Given the description of an element on the screen output the (x, y) to click on. 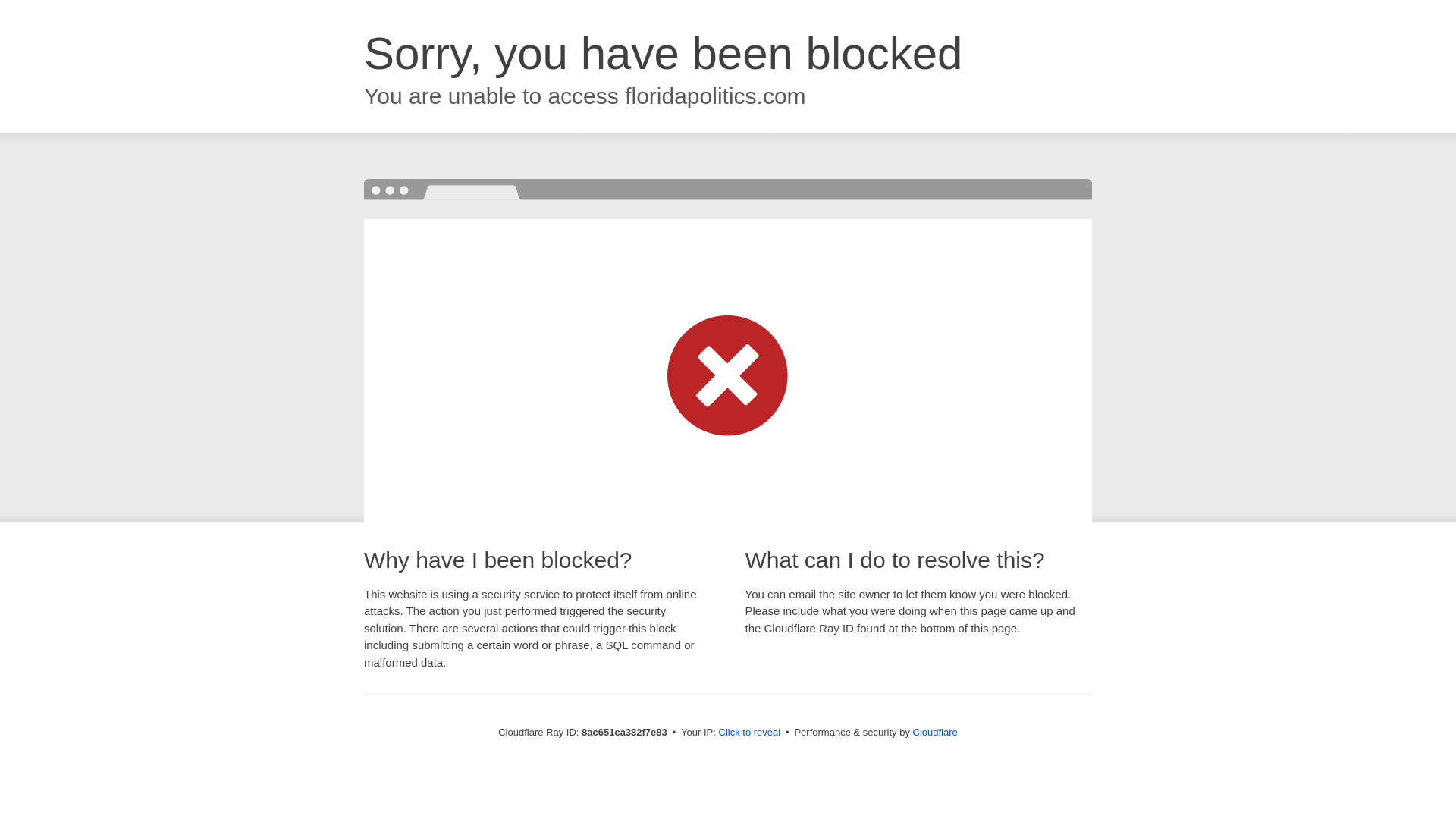
Click to reveal (749, 732)
Cloudflare (935, 731)
